Given the description of an element on the screen output the (x, y) to click on. 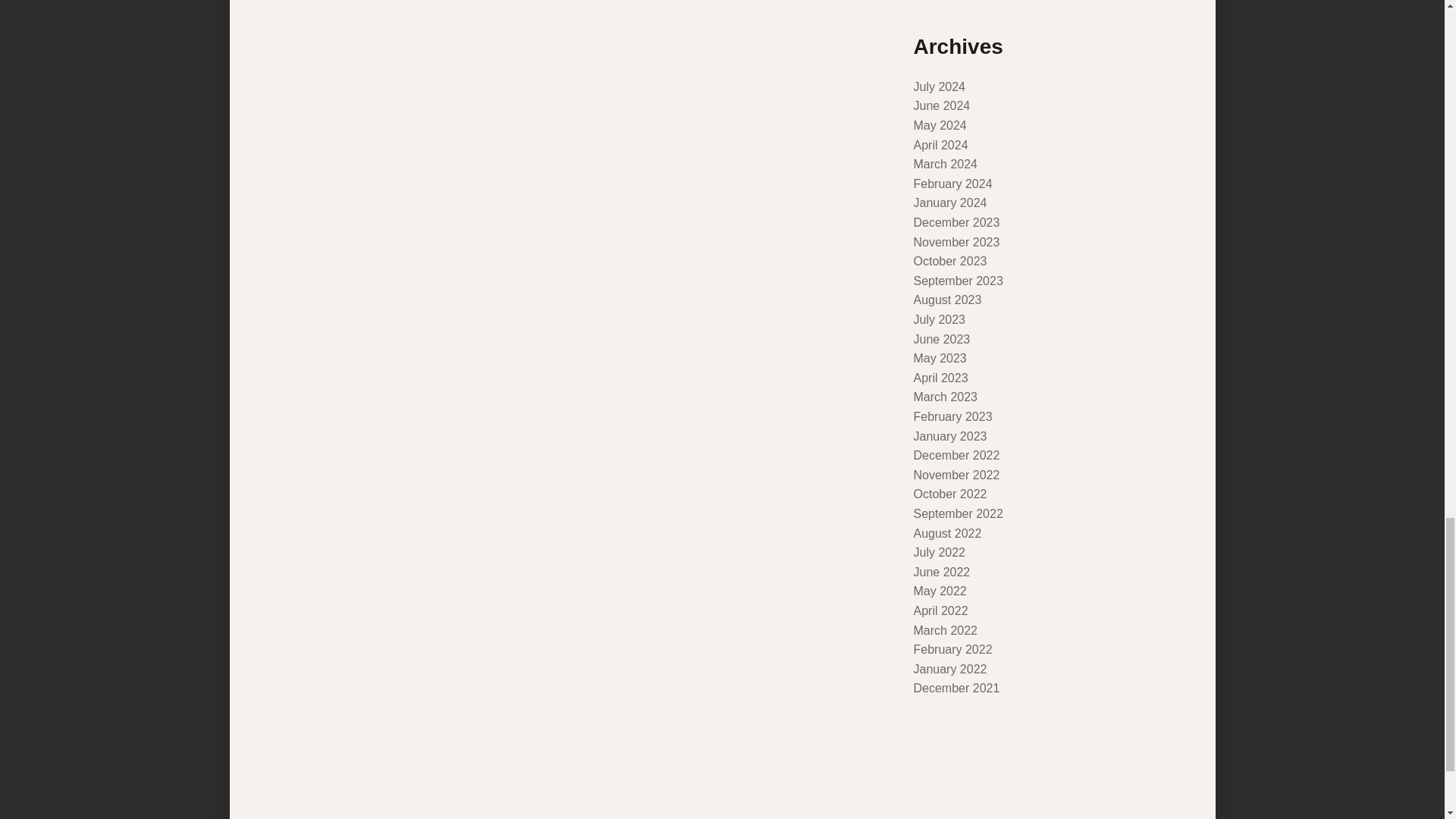
October 2023 (949, 260)
September 2023 (957, 280)
May 2024 (939, 124)
February 2024 (951, 183)
November 2023 (955, 241)
January 2024 (949, 202)
June 2024 (940, 105)
March 2024 (944, 164)
December 2023 (955, 222)
July 2024 (938, 86)
April 2024 (940, 144)
